Given the description of an element on the screen output the (x, y) to click on. 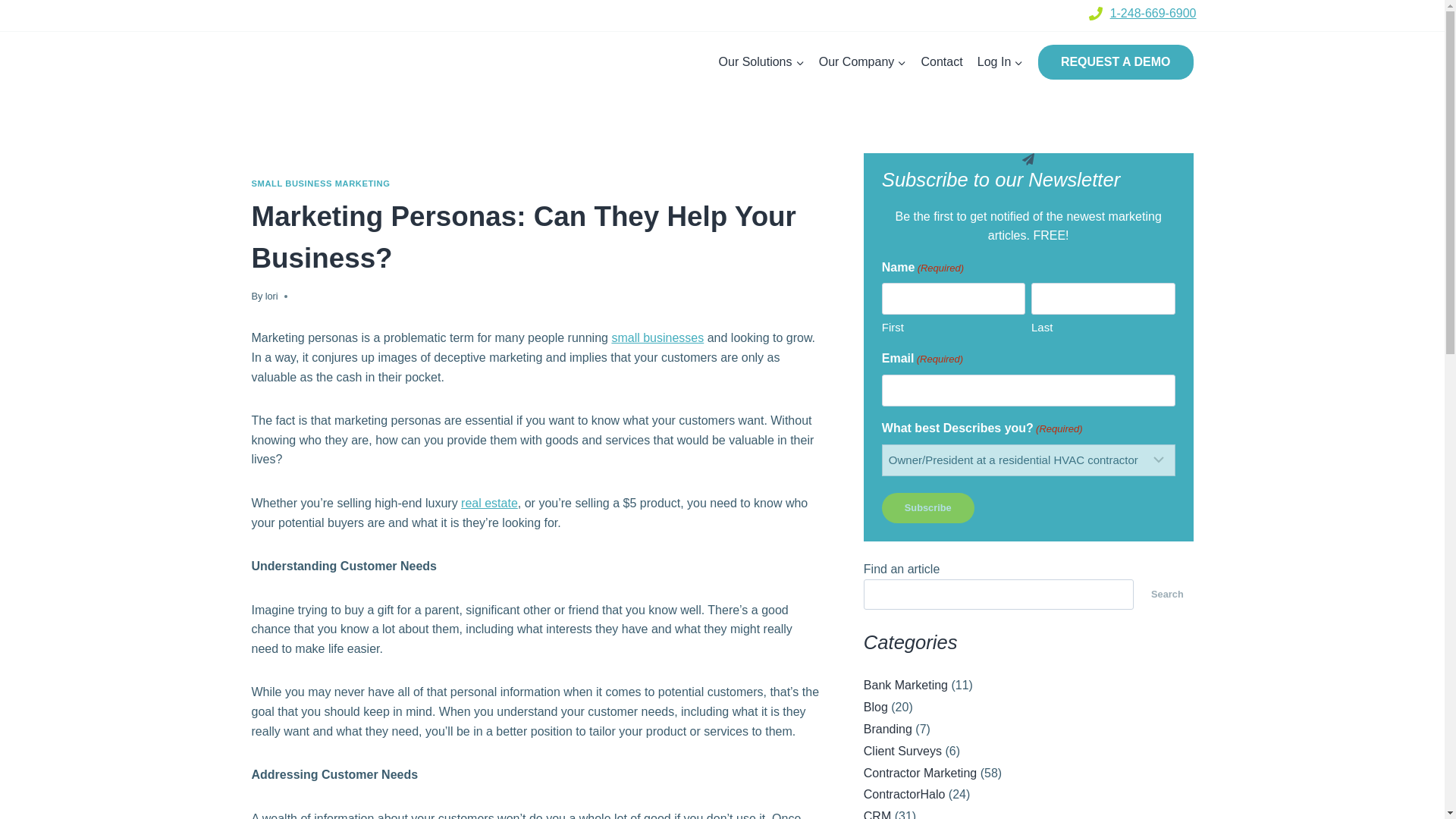
SMALL BUSINESS MARKETING (320, 183)
Our Solutions (760, 62)
Our Company (862, 62)
Subscribe (928, 508)
lori (271, 296)
Branding (887, 728)
Log In (999, 62)
REQUEST A DEMO (1115, 62)
Search (1166, 594)
real estate (489, 502)
Client Surveys (902, 750)
Subscribe (928, 508)
Blog (875, 707)
small businesses (657, 337)
Bank Marketing (905, 684)
